Given the description of an element on the screen output the (x, y) to click on. 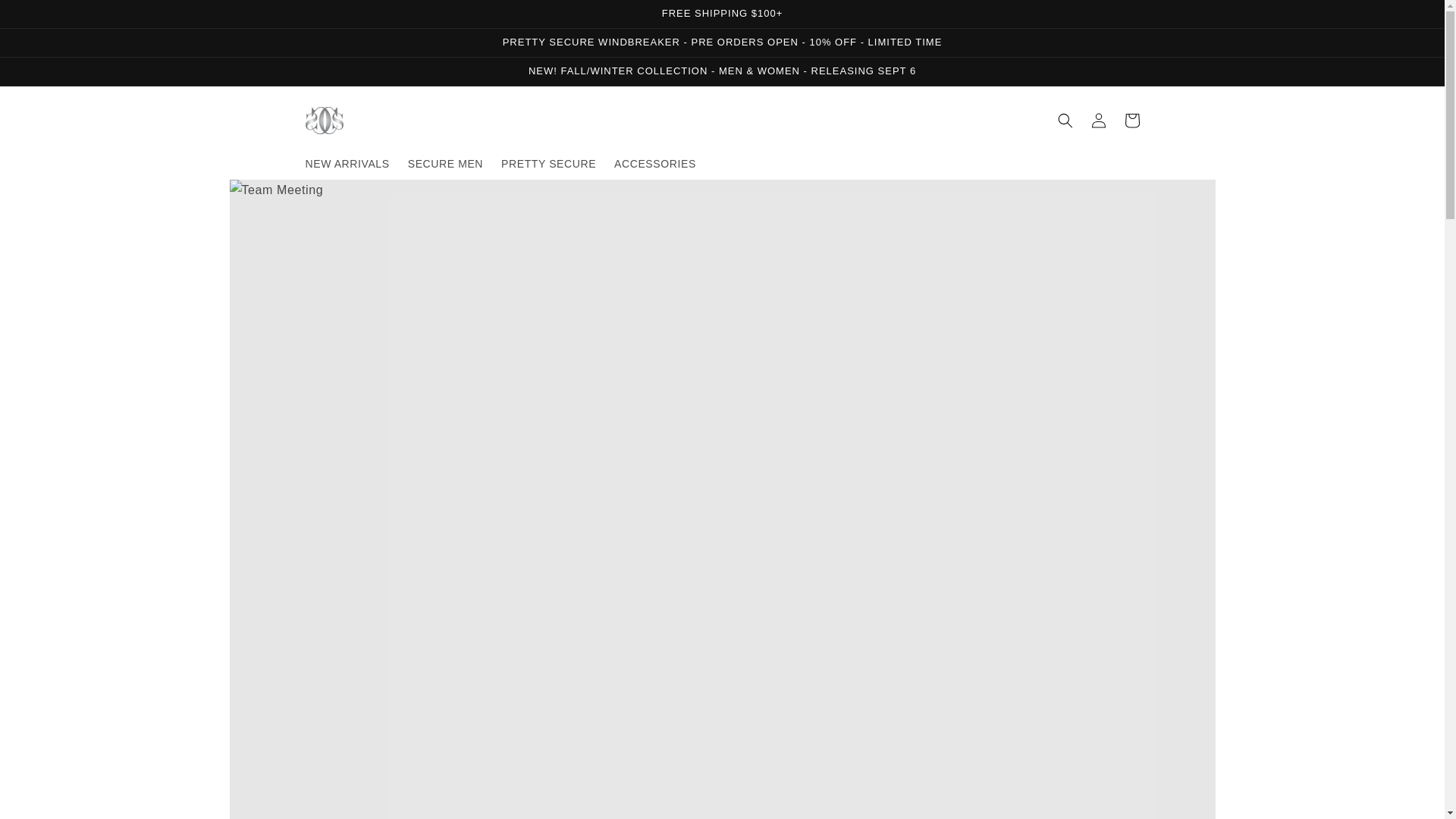
SECURE MEN (445, 163)
ACCESSORIES (654, 163)
PRETTY SECURE (548, 163)
NEW ARRIVALS (346, 163)
Log in (1098, 120)
Cart (1131, 120)
Skip to content (45, 17)
